Given the description of an element on the screen output the (x, y) to click on. 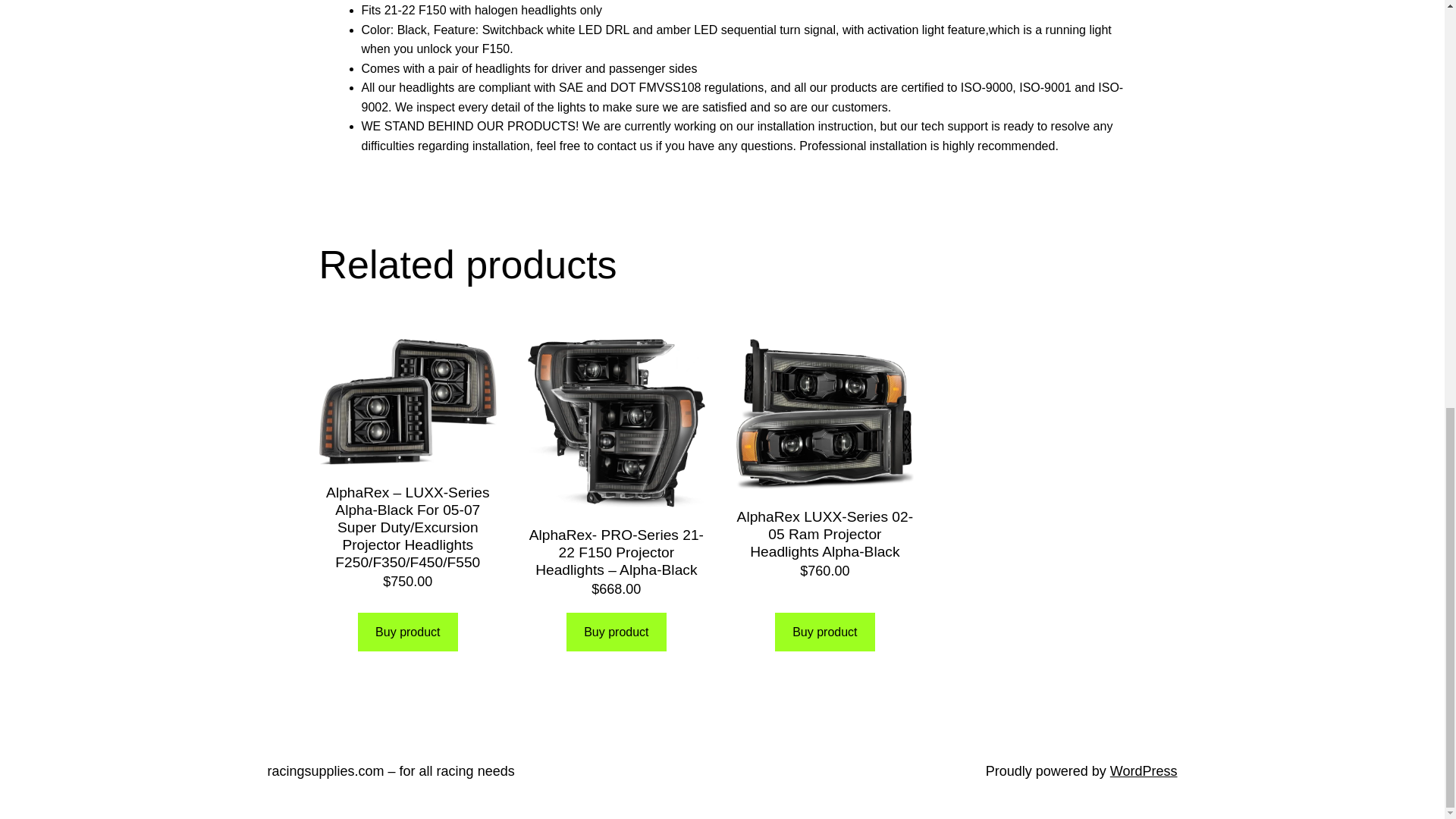
Buy product (824, 631)
Buy product (408, 631)
Buy product (616, 631)
